Given the description of an element on the screen output the (x, y) to click on. 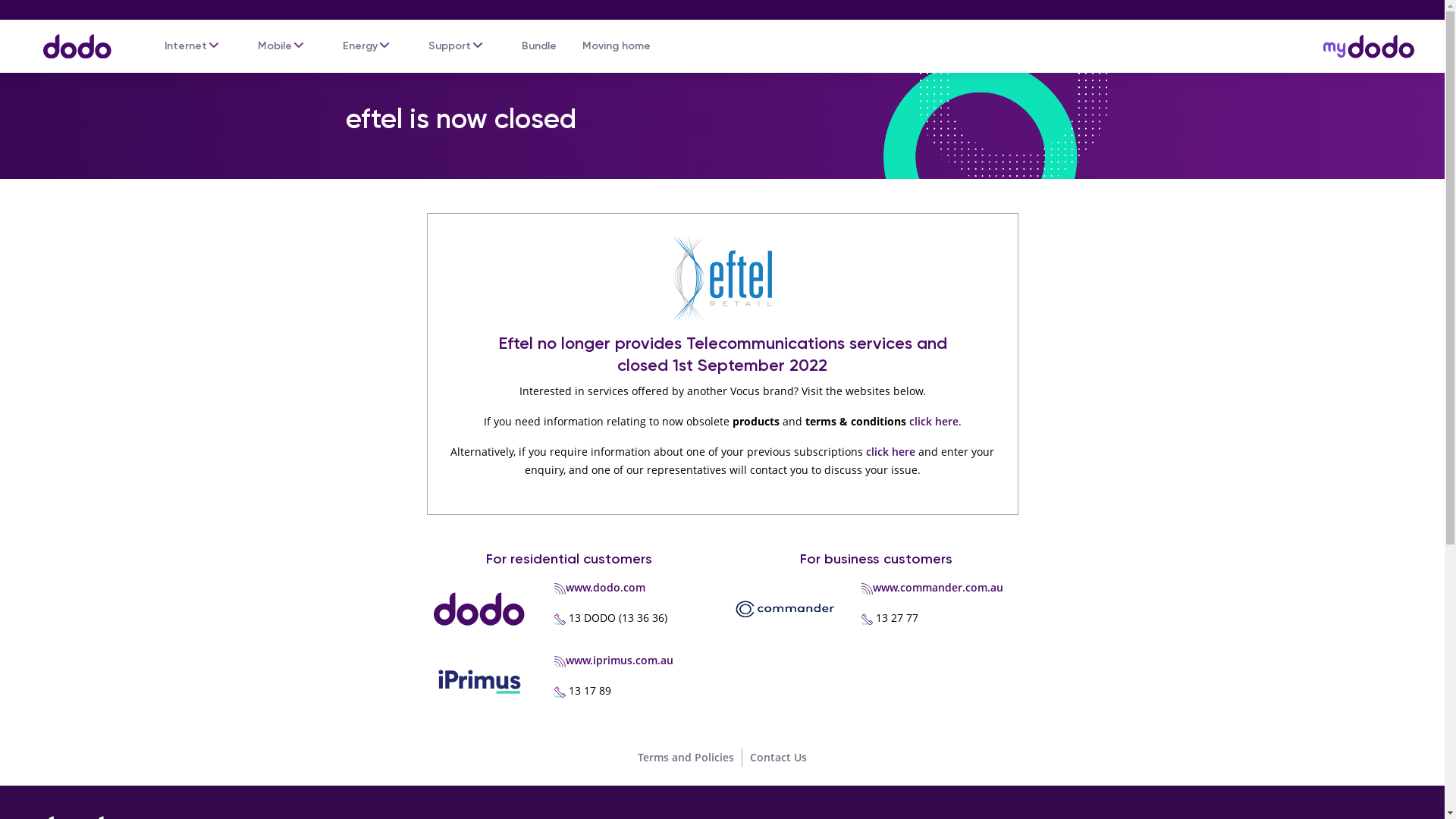
Bundle Element type: text (538, 45)
click here Element type: text (890, 451)
www.iprimus.com.au Element type: text (619, 659)
www.dodo.com Element type: text (605, 587)
Skip to main content Element type: text (721, 1)
Terms and Policies Element type: text (685, 756)
Energy Element type: text (359, 45)
Mobile Element type: text (274, 45)
Contact Us Element type: text (777, 756)
Support Element type: text (449, 45)
Internet Element type: text (185, 45)
Home Element type: hover (69, 38)
click here Element type: text (932, 421)
Moving home Element type: text (616, 45)
www.commander.com.au Element type: text (937, 587)
